Given the description of an element on the screen output the (x, y) to click on. 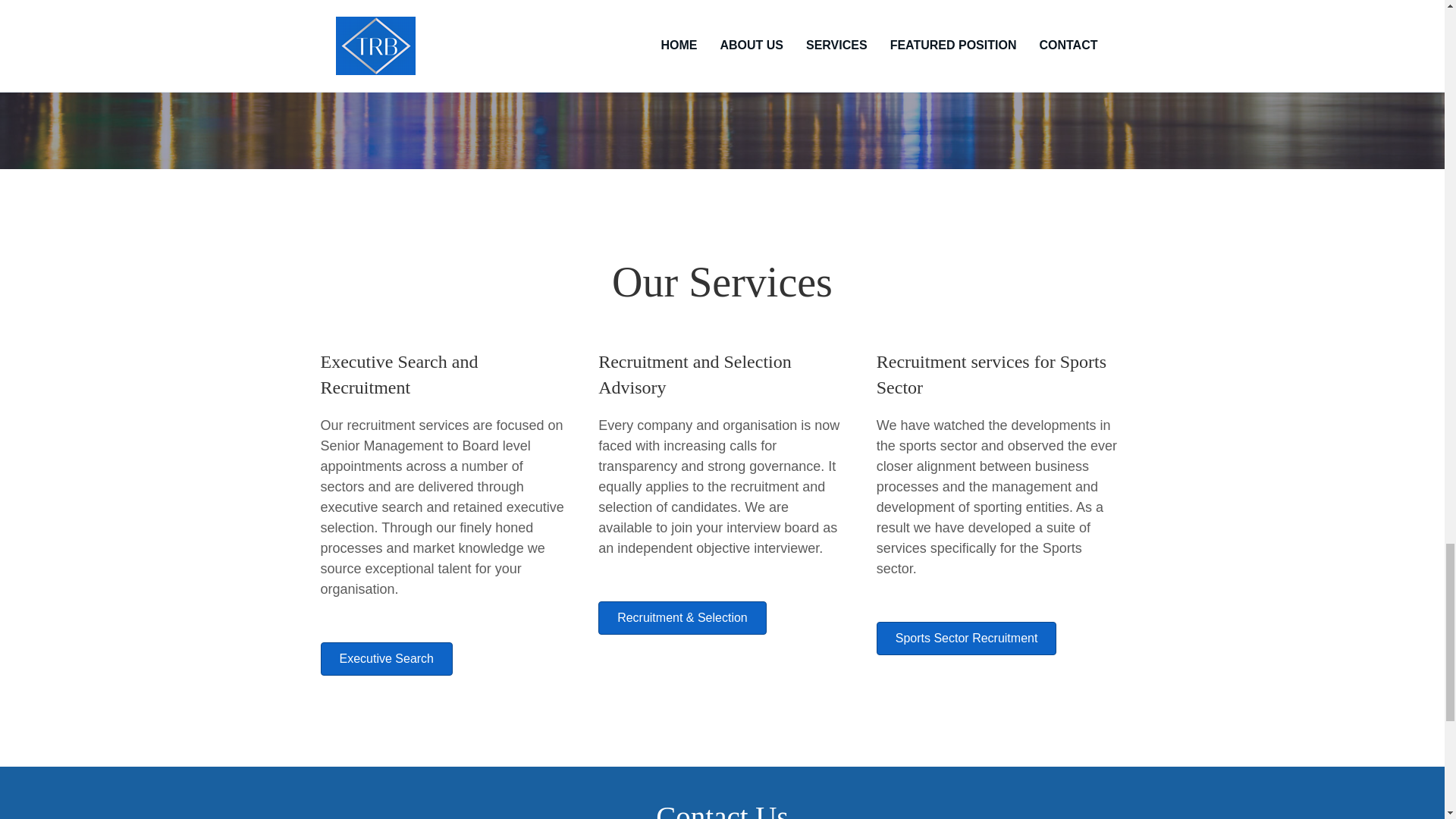
Executive Search (386, 658)
Sports Sector Recruitment (966, 638)
